Given the description of an element on the screen output the (x, y) to click on. 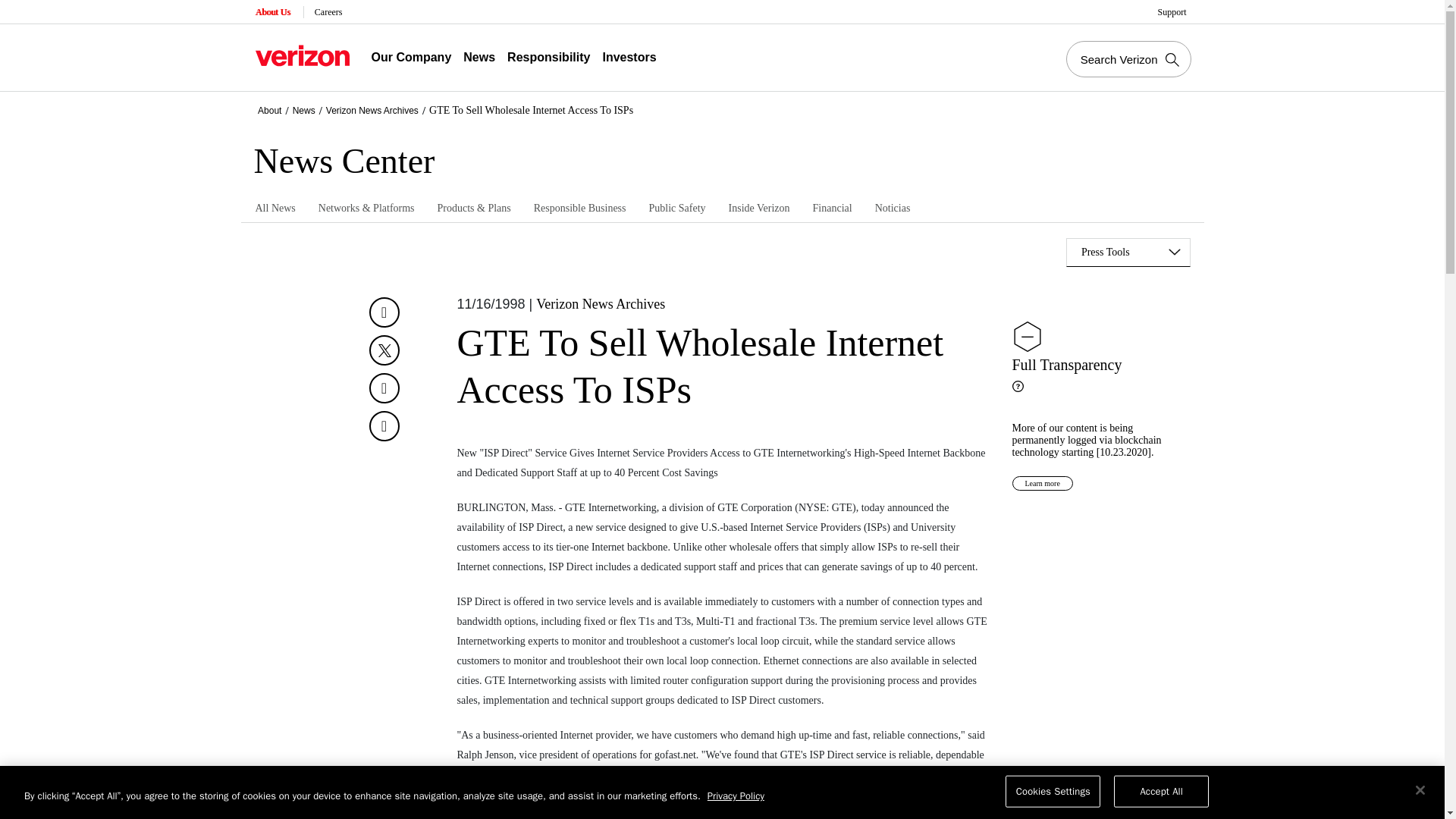
About Verizon (301, 55)
Support (1173, 12)
Our Company (411, 57)
About Us (272, 12)
Careers (329, 12)
